Given the description of an element on the screen output the (x, y) to click on. 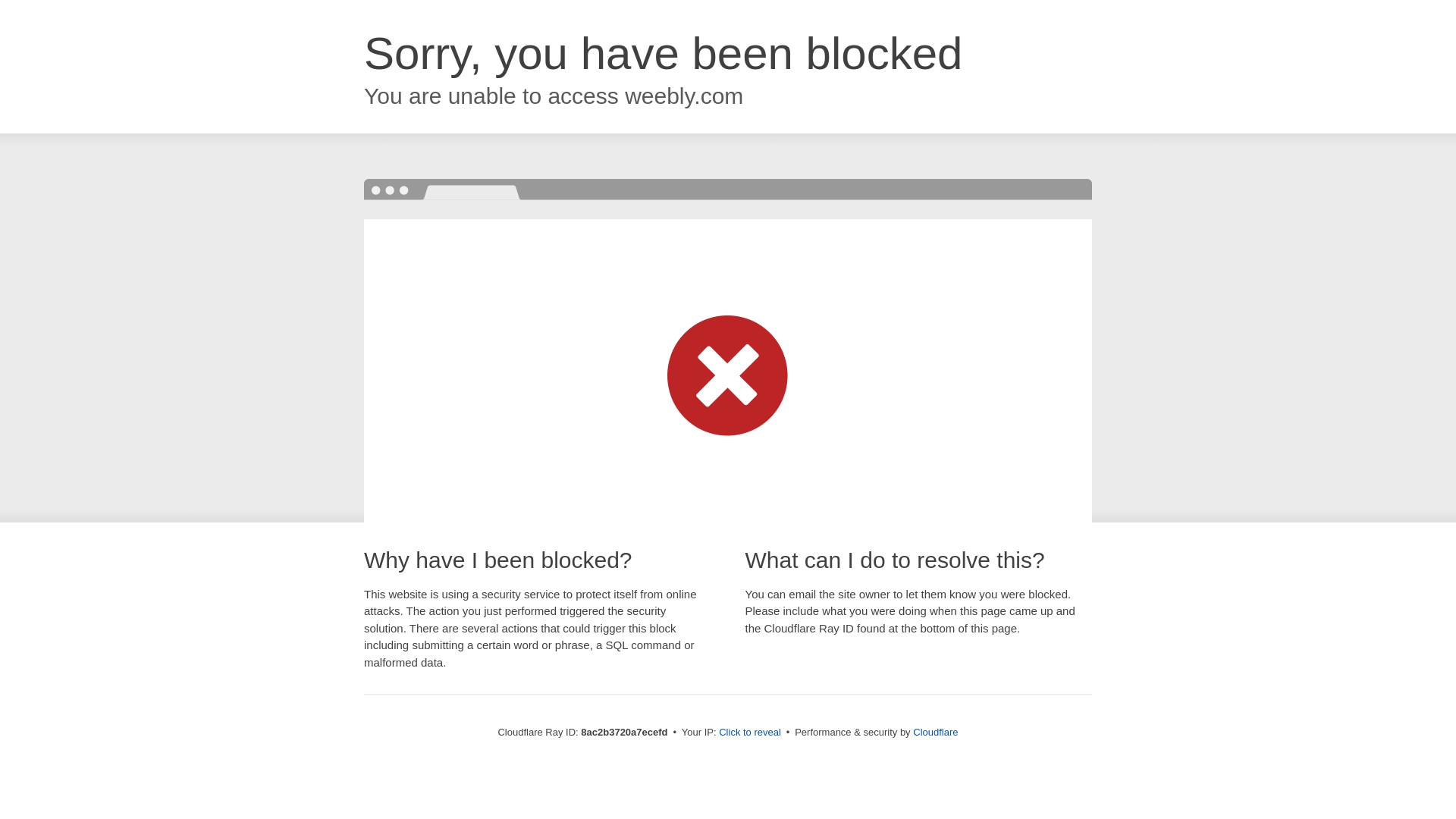
Click to reveal (749, 732)
Cloudflare (935, 731)
